Given the description of an element on the screen output the (x, y) to click on. 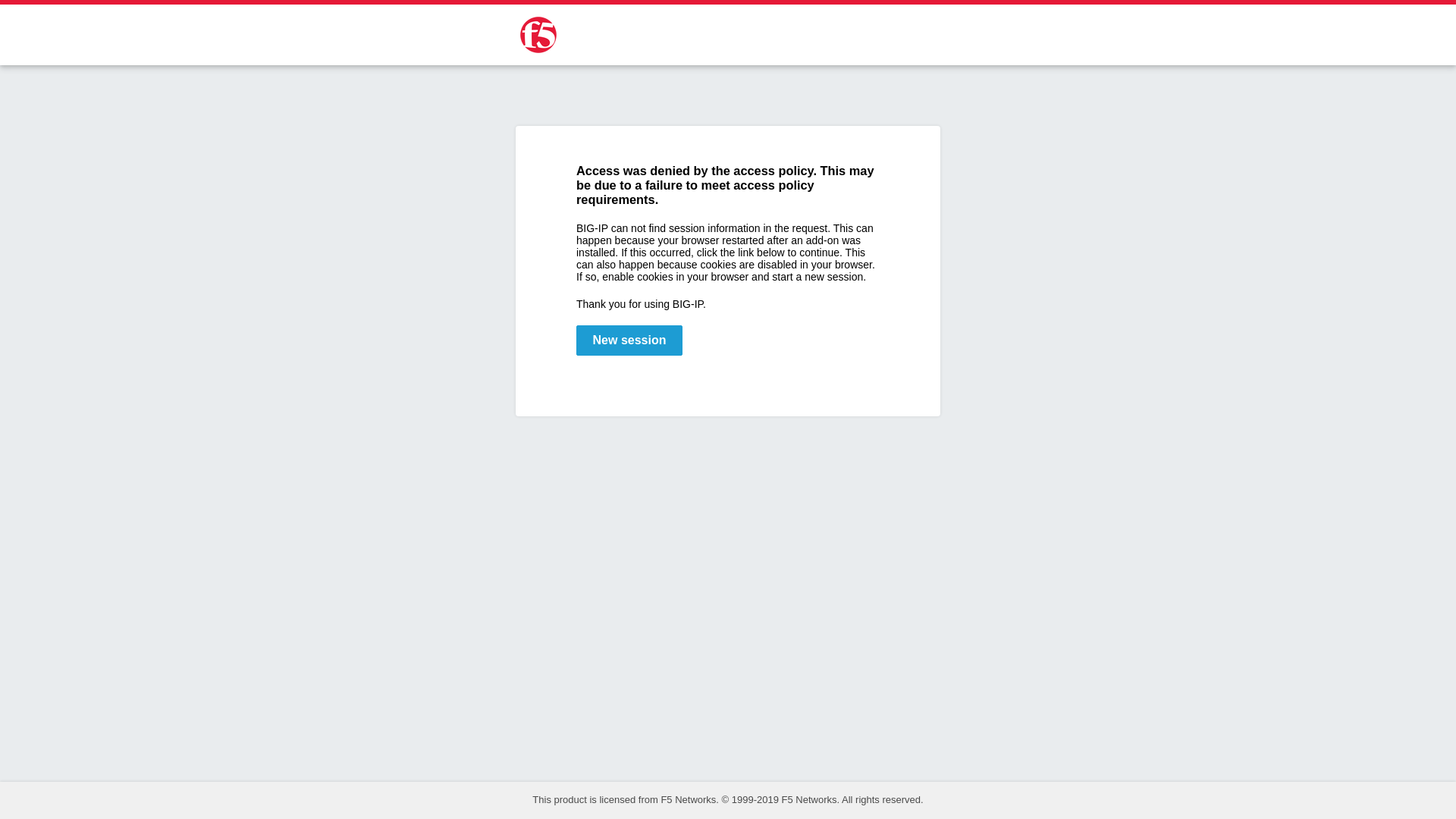
New session Element type: text (629, 340)
